Given the description of an element on the screen output the (x, y) to click on. 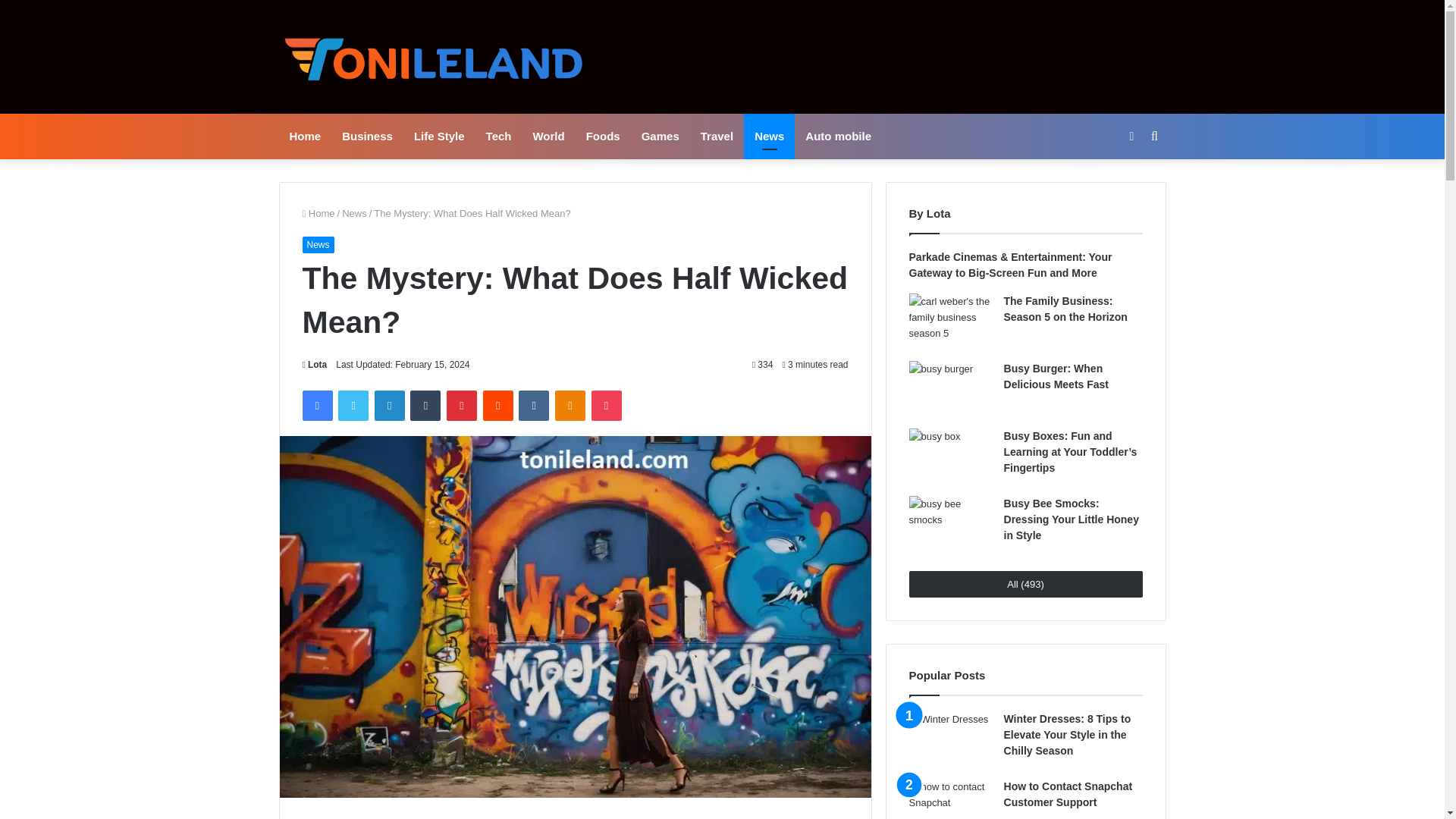
Business (367, 135)
Auto mobile (838, 135)
Twitter (352, 405)
News (769, 135)
Lota (313, 364)
Travel (717, 135)
Tech (499, 135)
Pocket (606, 405)
Home (317, 213)
Games (660, 135)
Pinterest (461, 405)
News (317, 244)
Home (305, 135)
Tumblr (425, 405)
VKontakte (533, 405)
